Given the description of an element on the screen output the (x, y) to click on. 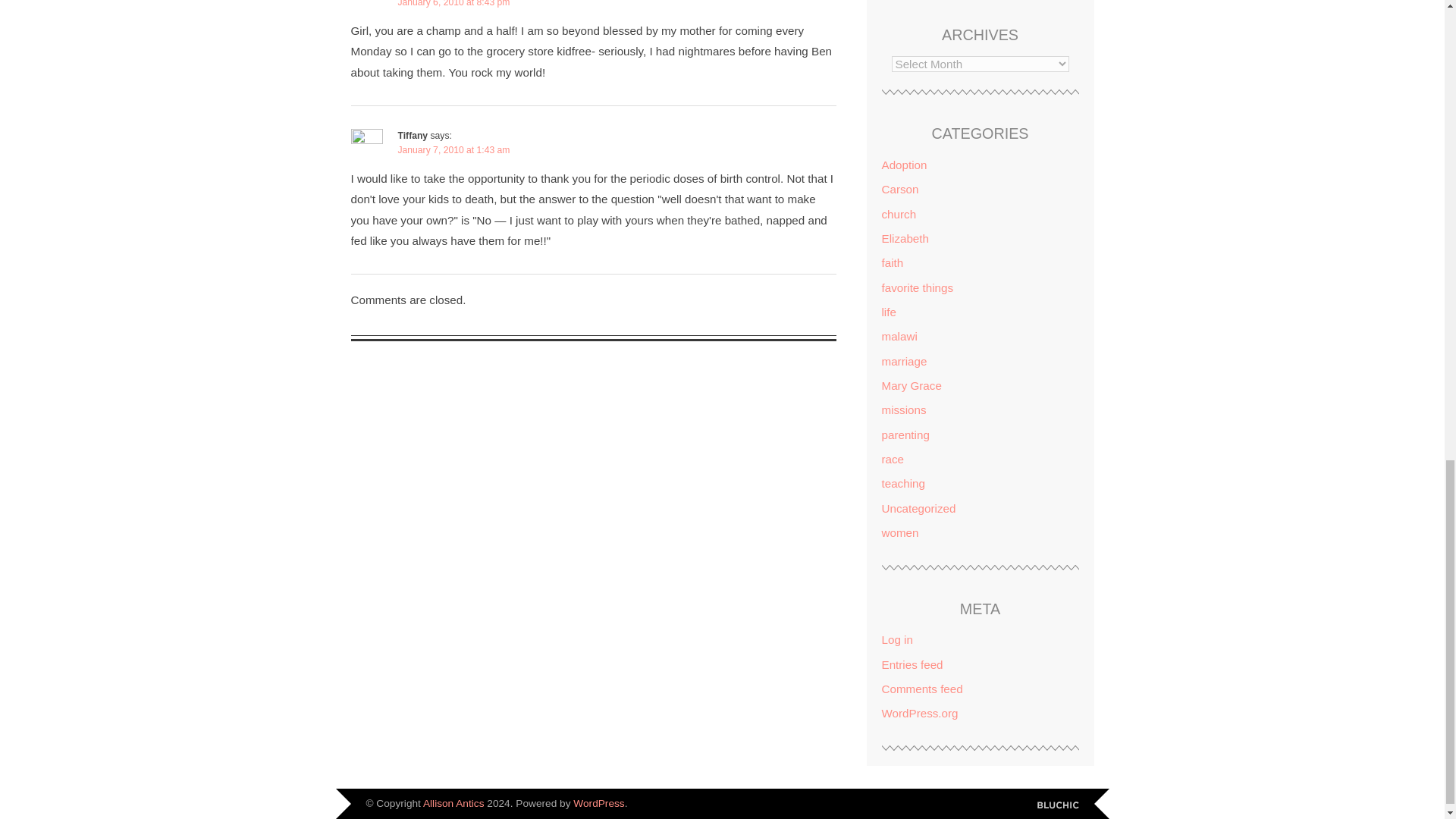
women (899, 532)
parenting (904, 434)
January 6, 2010 at 8:43 pm (453, 3)
Mary Grace (910, 385)
favorite things (916, 287)
Elizabeth (904, 237)
Uncategorized (917, 508)
January 7, 2010 at 1:43 am (453, 149)
Adoption (903, 164)
Comments feed (921, 688)
race (892, 459)
marriage (903, 360)
life (887, 311)
Carson (899, 188)
WordPress.org (919, 712)
